Given the description of an element on the screen output the (x, y) to click on. 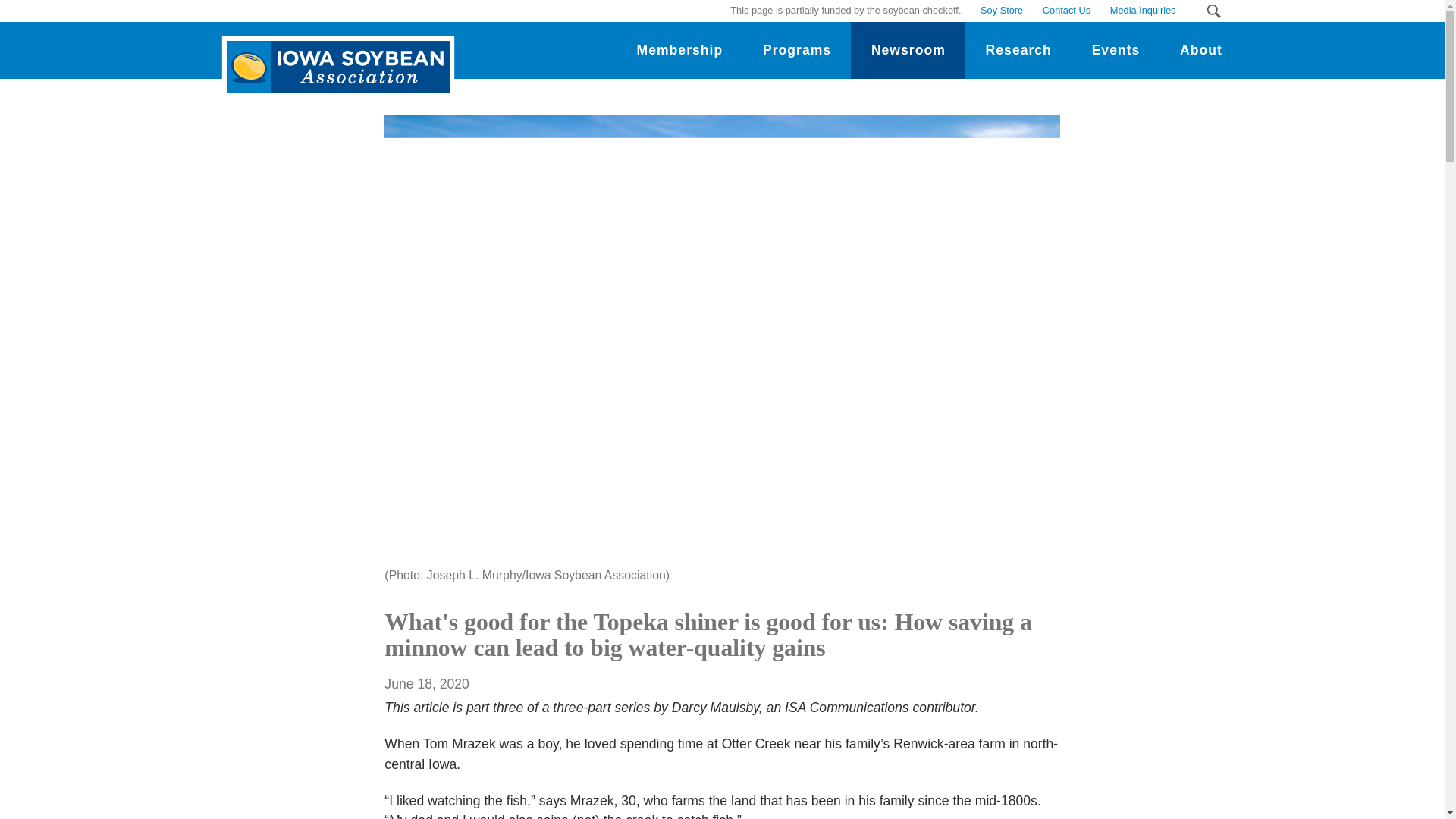
Events (1114, 50)
Search (1213, 11)
Contact Us (1066, 11)
Media Inquiries (1142, 11)
About (1201, 50)
Membership (678, 50)
This page is partially funded by the soybean checkoff. (845, 11)
Research (1018, 50)
Programs (796, 50)
Newsroom (907, 50)
Iowa Soybean Association. Link to homepage (334, 54)
Soy Store (1001, 11)
